Given the description of an element on the screen output the (x, y) to click on. 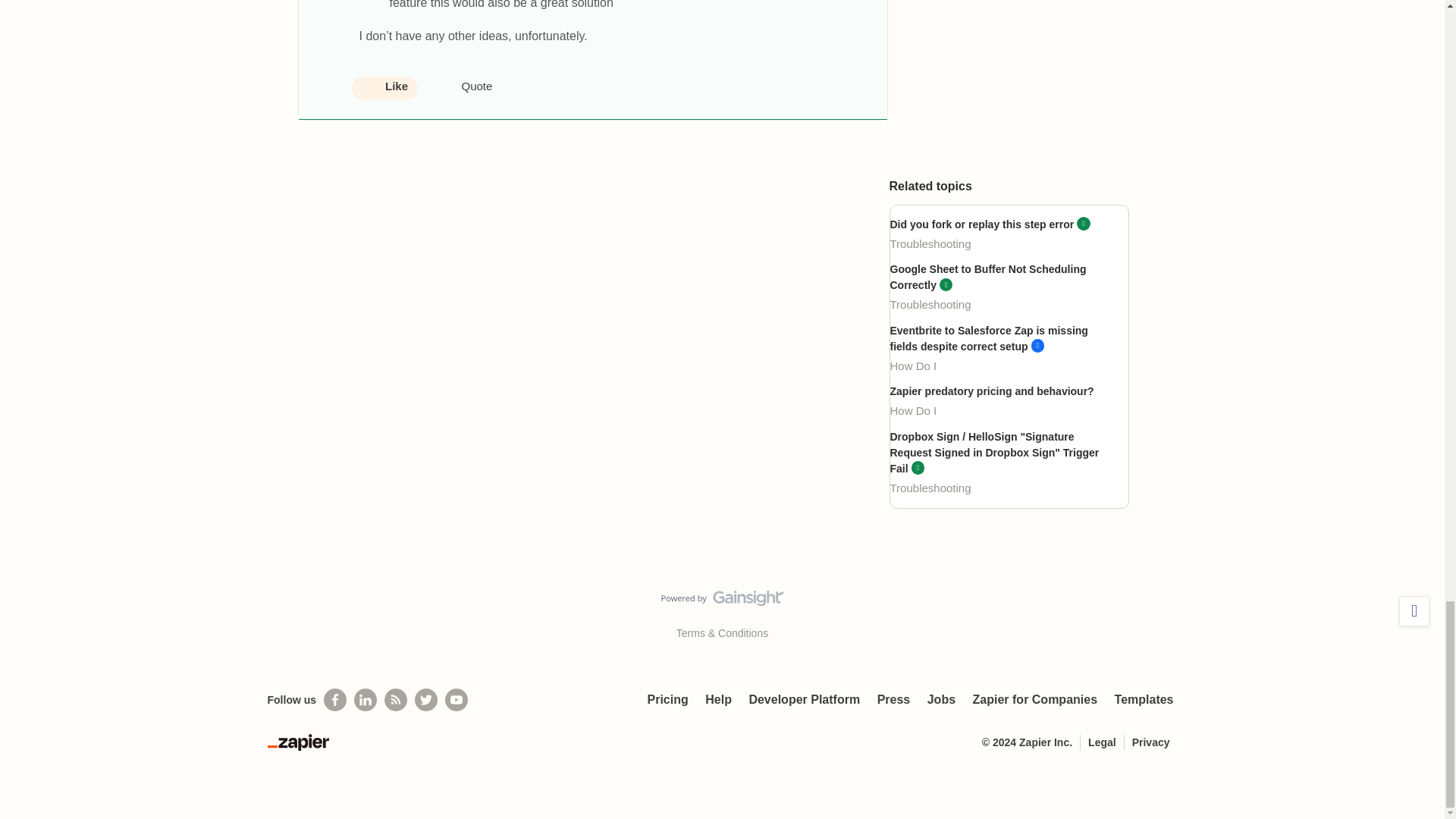
Follow us on Facebook (334, 699)
See helpful Zapier videos on Youtube (456, 699)
Visit Gainsight.com (722, 601)
Back to top (1414, 611)
Follow us on LinkedIn (365, 699)
Subscribe to our blog (395, 699)
